Given the description of an element on the screen output the (x, y) to click on. 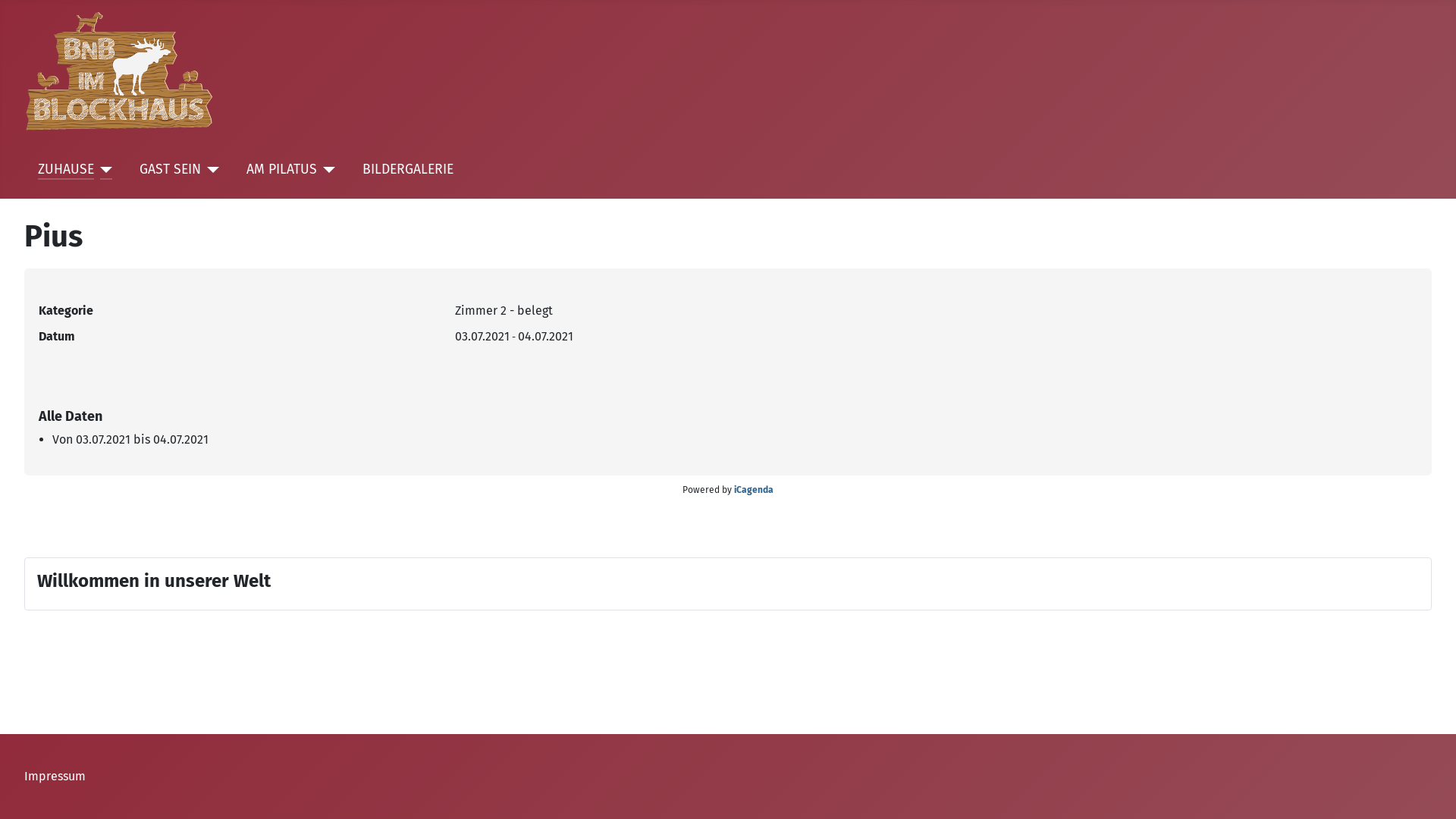
Impressum Element type: text (54, 775)
AM PILATUS Element type: text (281, 169)
GAST SEIN Element type: text (169, 169)
BILDERGALERIE Element type: text (407, 169)
iCagenda Element type: text (753, 489)
ZUHAUSE Element type: text (65, 169)
